Given the description of an element on the screen output the (x, y) to click on. 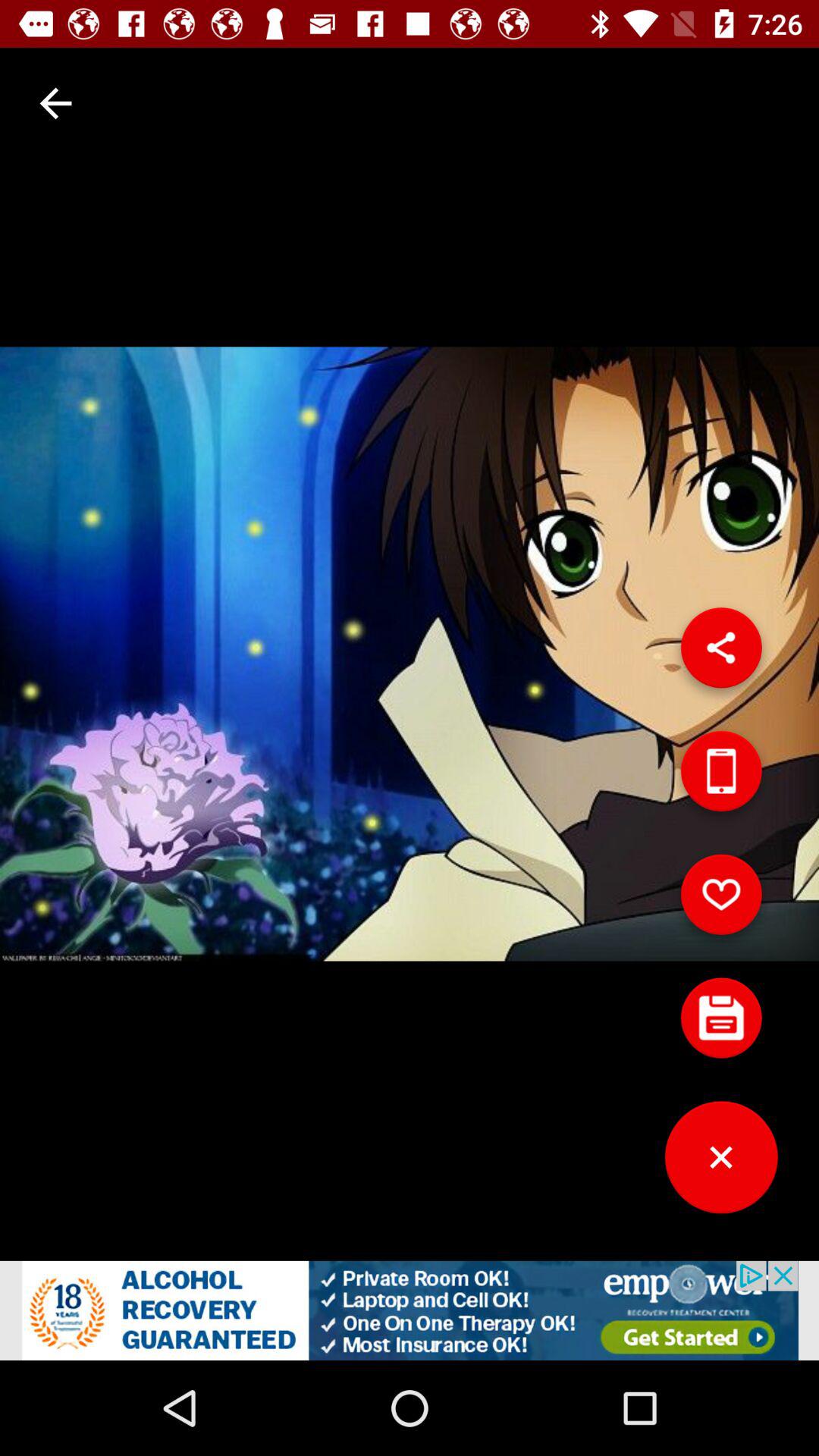
comment button (721, 1023)
